Given the description of an element on the screen output the (x, y) to click on. 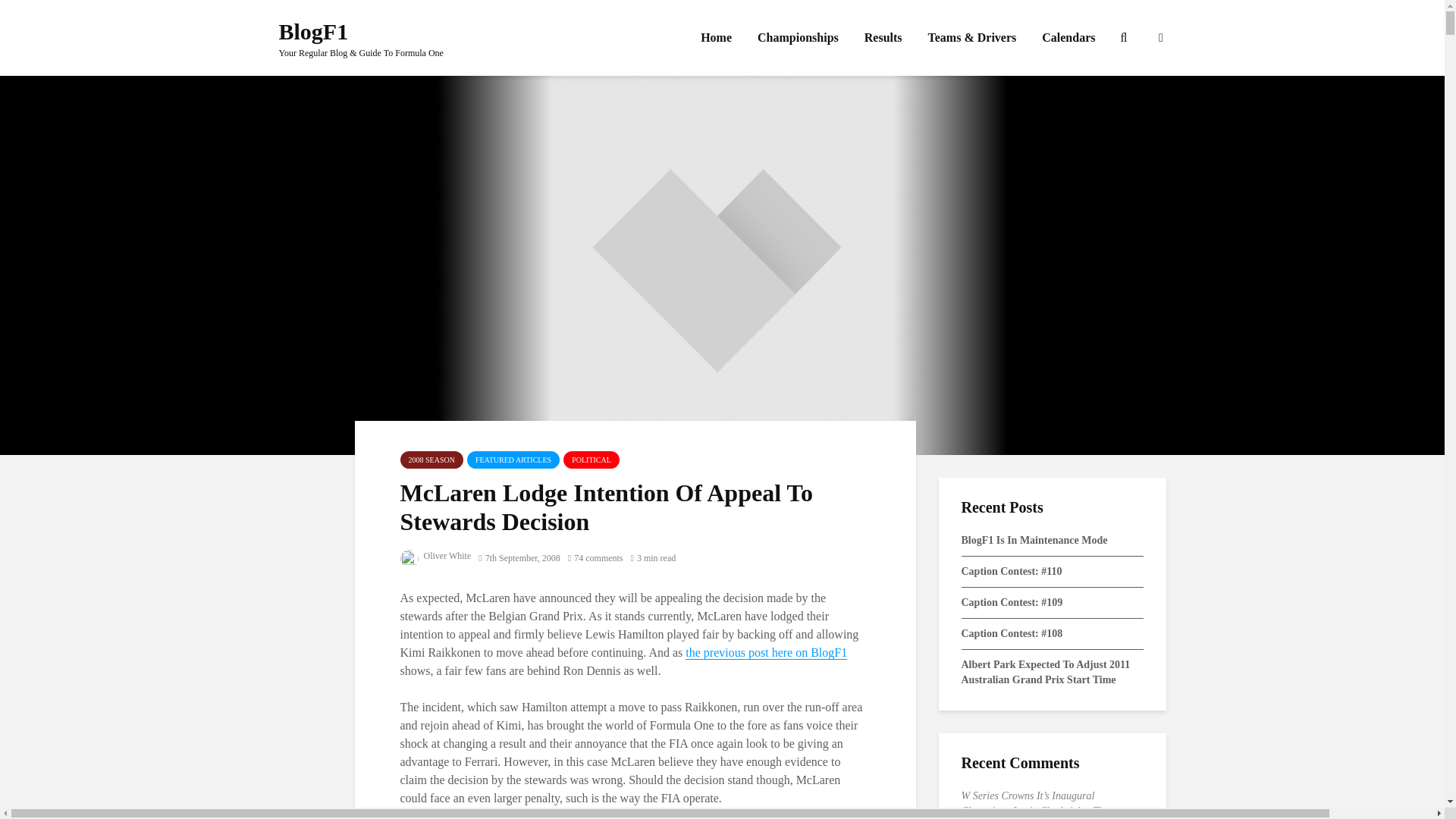
74 comments (595, 557)
2008 SEASON (431, 459)
Results (883, 37)
FEATURED ARTICLES (513, 459)
the previous post here on BlogF1 (766, 653)
Championships (797, 37)
POLITICAL (591, 459)
BlogF1 Article: Hamilton Penalised, Loses Win (766, 653)
Calendars (1068, 37)
Home (715, 37)
Oliver White (435, 555)
BlogF1 (314, 31)
